Given the description of an element on the screen output the (x, y) to click on. 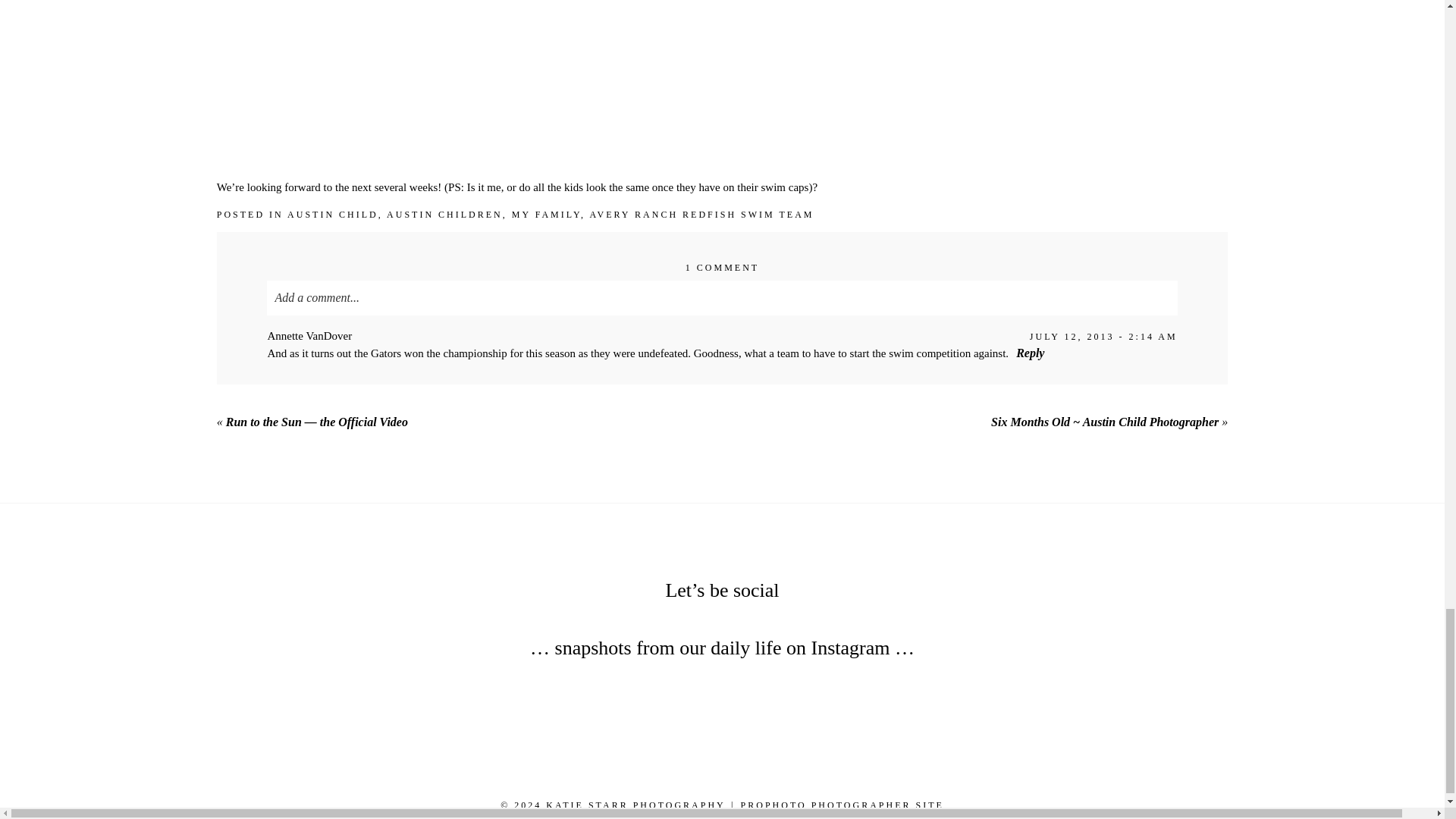
ProPhoto Photography Theme (842, 805)
